Given the description of an element on the screen output the (x, y) to click on. 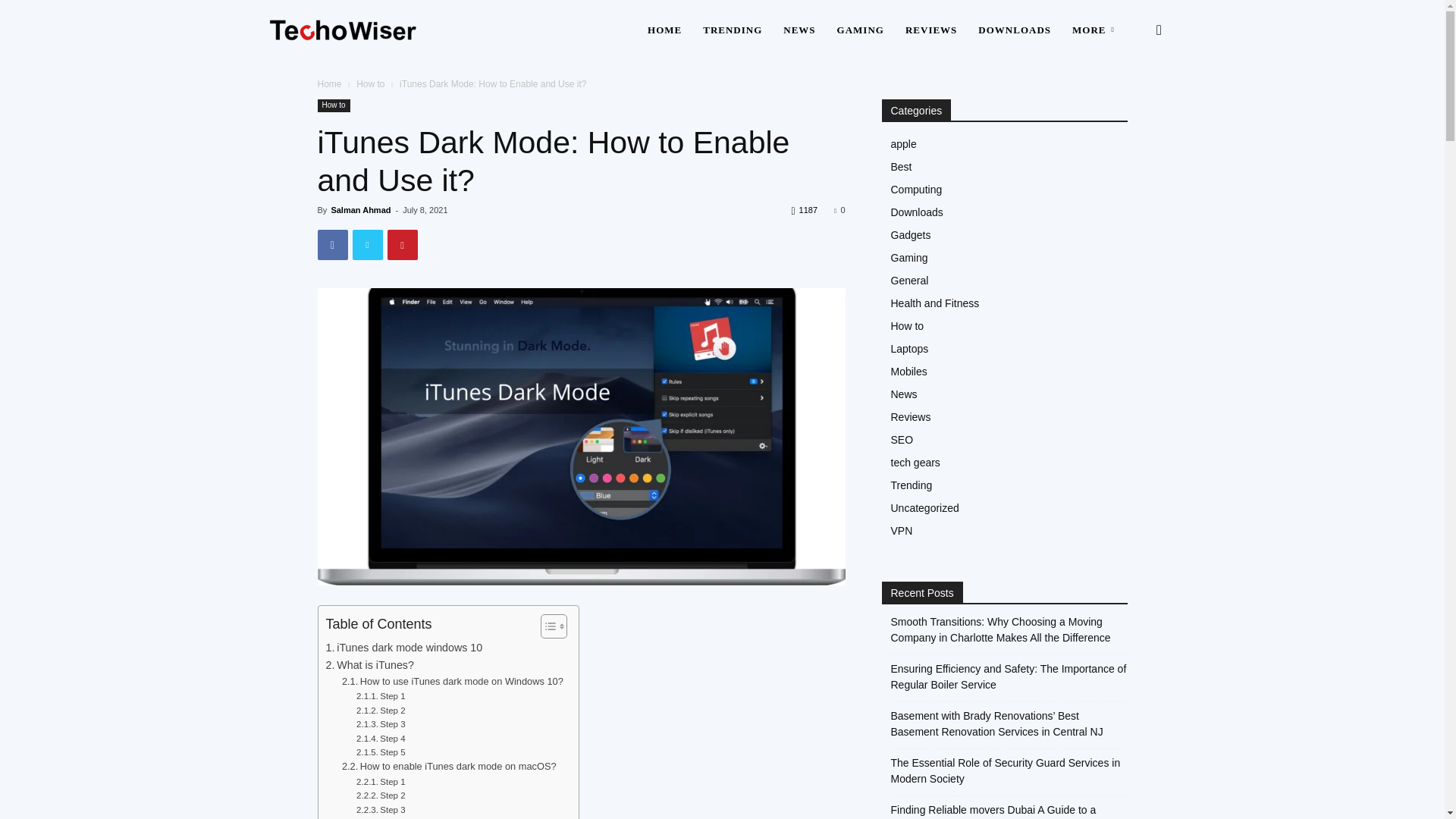
Step 5 (381, 752)
What is iTunes? (369, 665)
Step 2 (381, 710)
Salman Ahmad (360, 209)
iTunes dark mode windows 10 (404, 647)
Search (1134, 102)
Step 4 (381, 738)
HOME (665, 30)
How to (370, 83)
How to use iTunes dark mode on Windows 10? (452, 682)
Step 1 (381, 695)
Step 3 (381, 724)
How to (333, 105)
GAMING (861, 30)
